Given the description of an element on the screen output the (x, y) to click on. 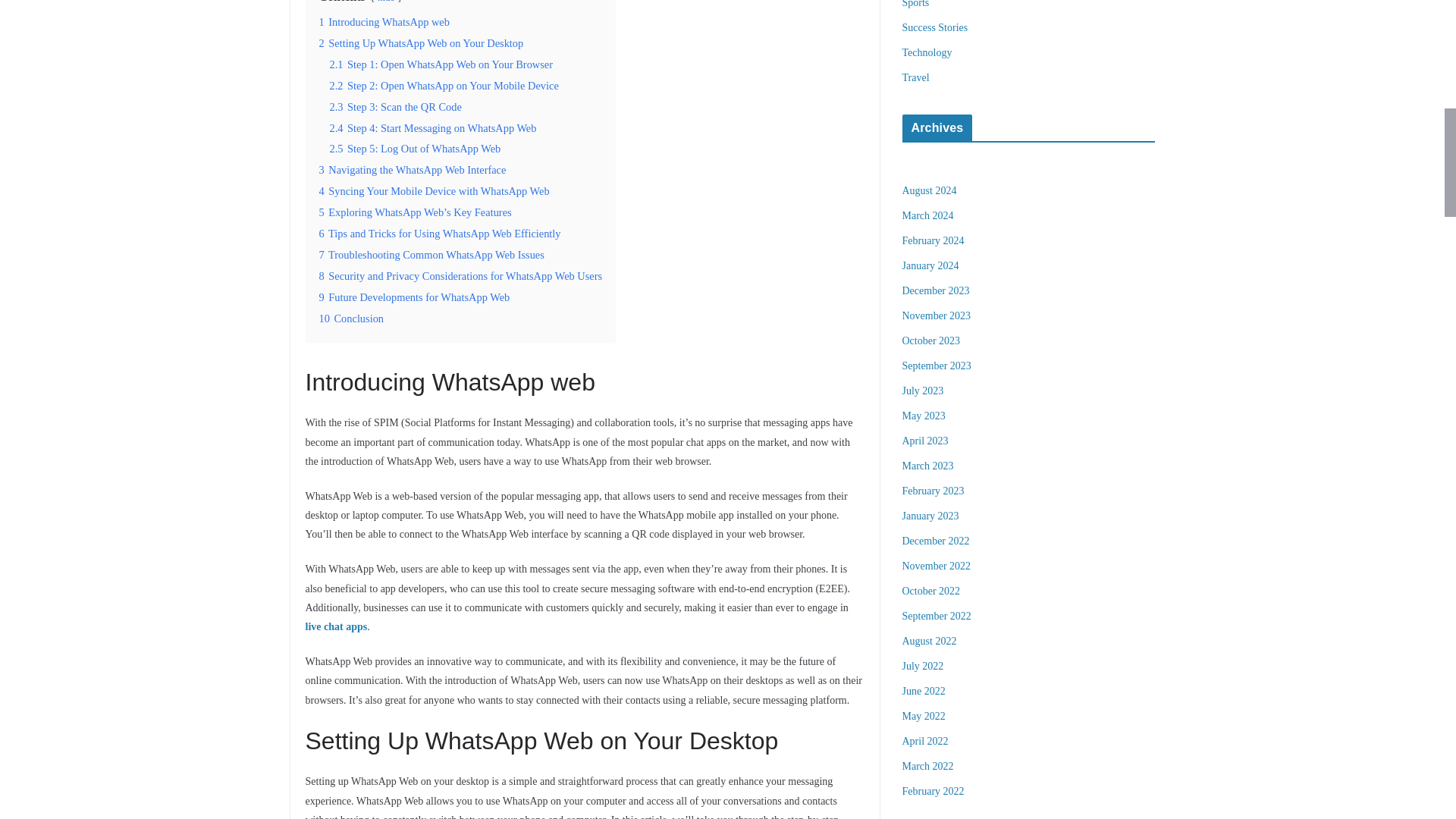
hide (385, 1)
7 Troubleshooting Common WhatsApp Web Issues (430, 254)
2.3 Step 3: Scan the QR Code (395, 106)
2.2 Step 2: Open WhatsApp on Your Mobile Device (443, 85)
6 Tips and Tricks for Using WhatsApp Web Efficiently (439, 233)
1 Introducing WhatsApp web (383, 21)
4 Syncing Your Mobile Device with WhatsApp Web (433, 191)
2.5 Step 5: Log Out of WhatsApp Web (414, 148)
2.1 Step 1: Open WhatsApp Web on Your Browser (441, 64)
2 Setting Up WhatsApp Web on Your Desktop (420, 42)
